Given the description of an element on the screen output the (x, y) to click on. 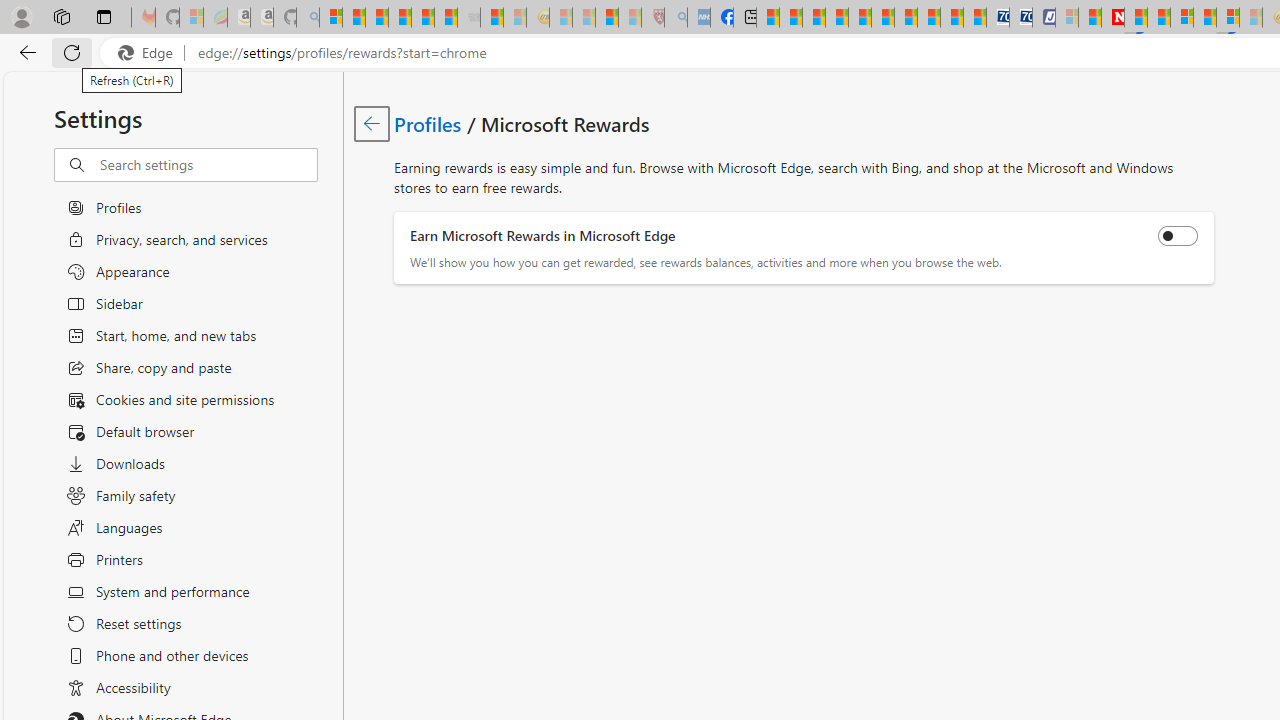
Search settings (207, 165)
12 Popular Science Lies that Must be Corrected - Sleeping (630, 17)
Climate Damage Becomes Too Severe To Reverse (836, 17)
Edge (150, 53)
